Given the description of an element on the screen output the (x, y) to click on. 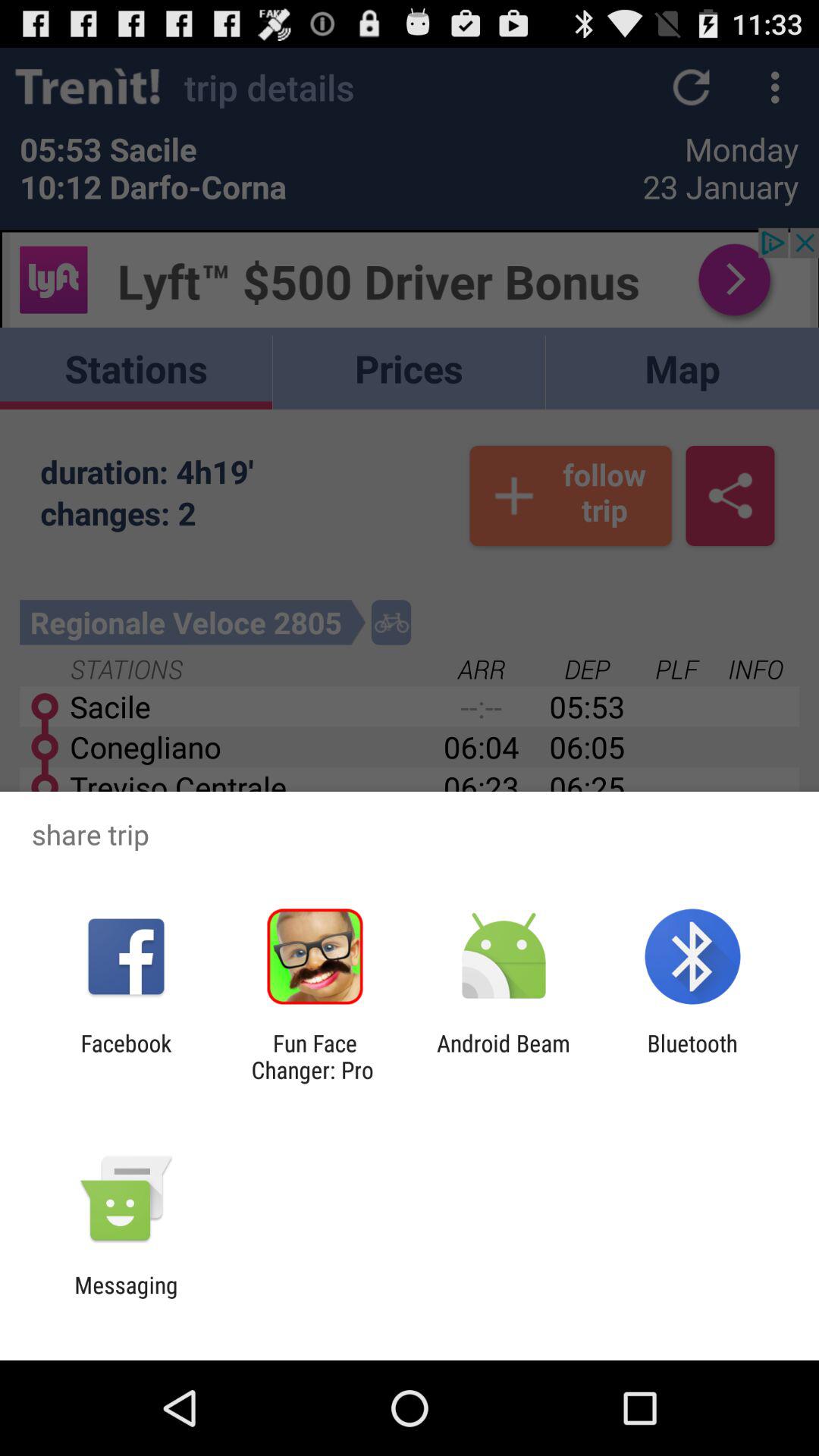
scroll to facebook item (125, 1056)
